Given the description of an element on the screen output the (x, y) to click on. 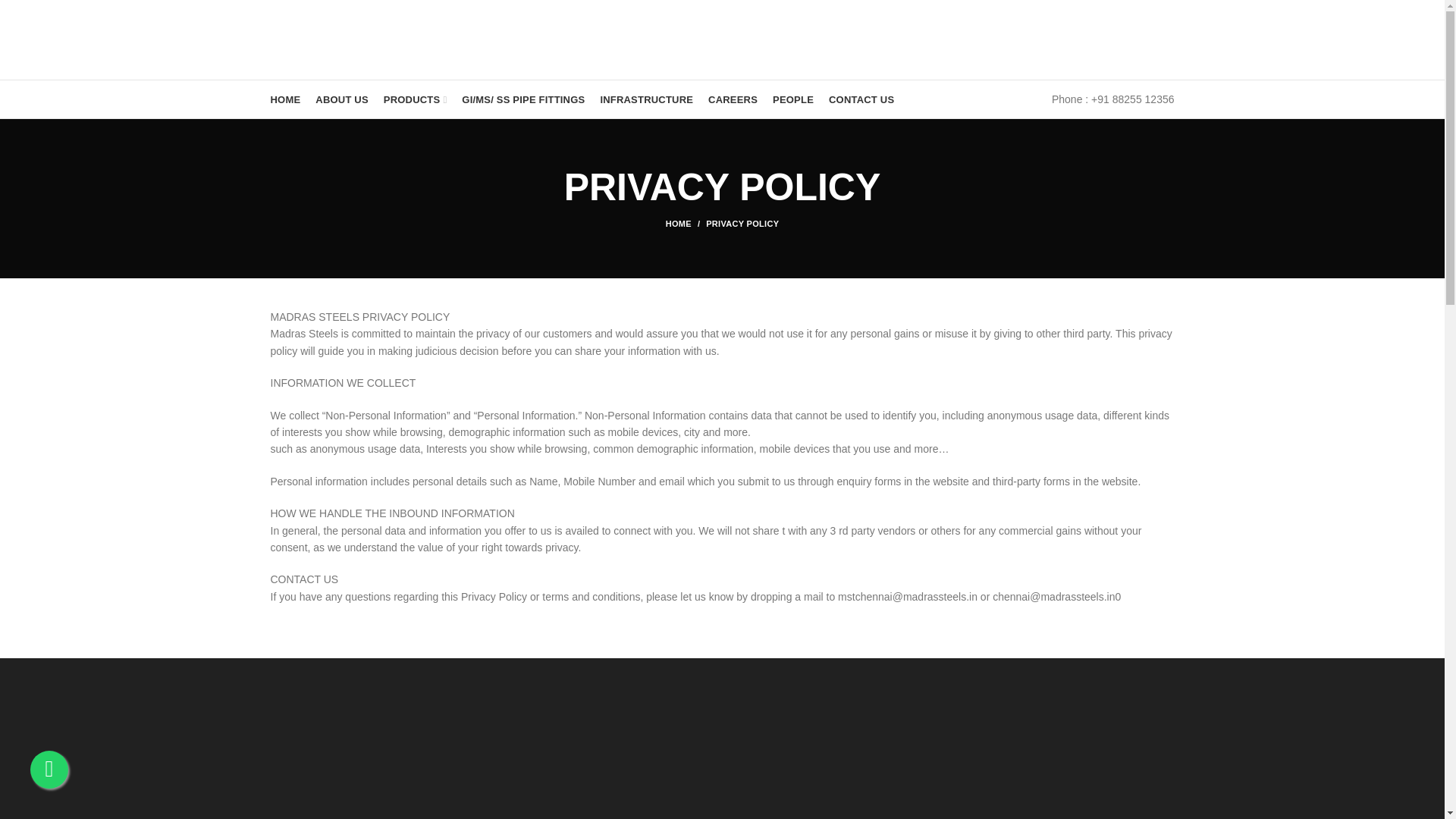
INFRASTRUCTURE (646, 98)
PEOPLE (793, 98)
CAREERS (732, 98)
CONTACT US (861, 98)
ABOUT US (341, 98)
HOME (685, 223)
PRODUCTS (414, 98)
HOME (284, 98)
